Given the description of an element on the screen output the (x, y) to click on. 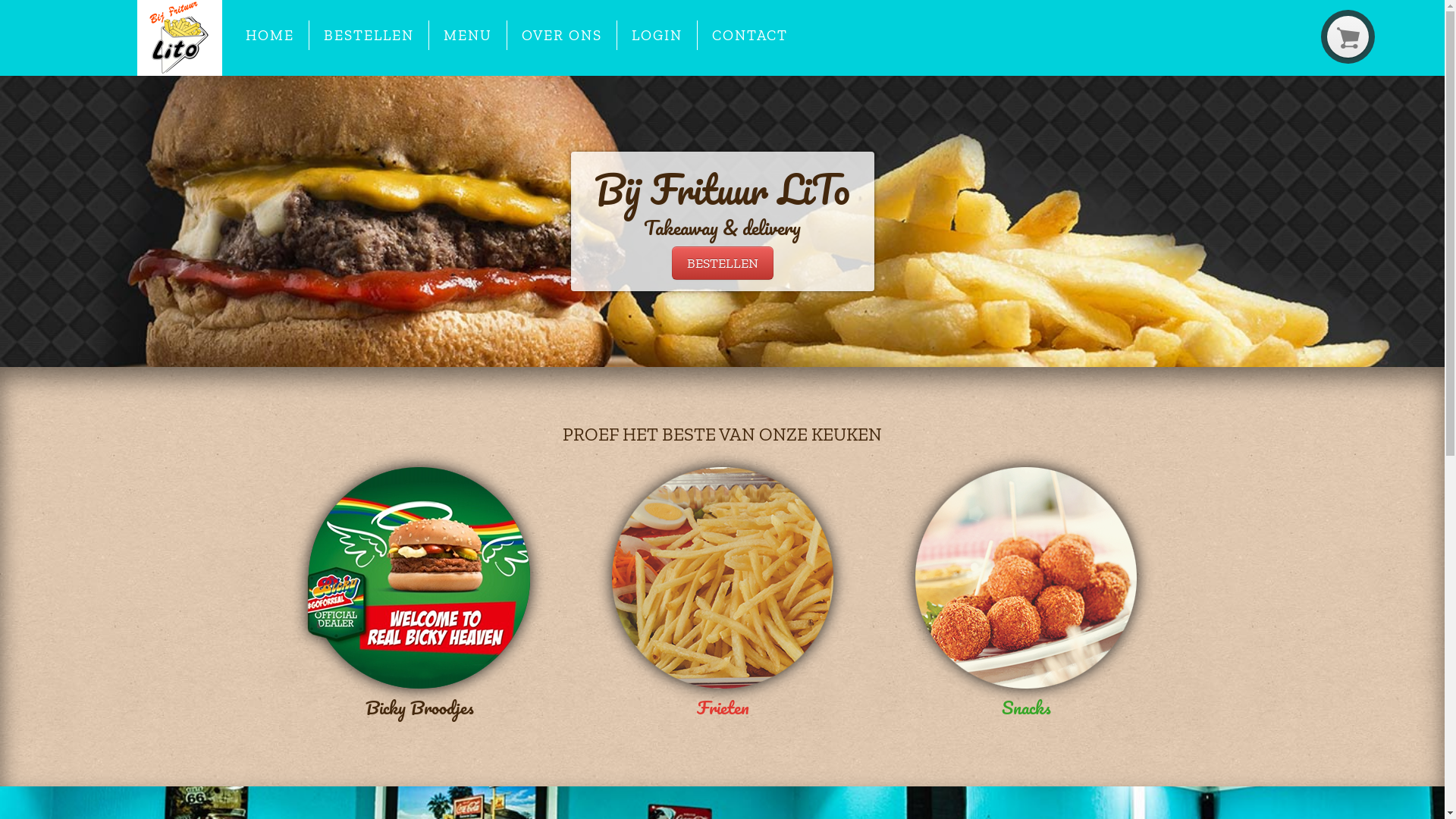
BESTELLEN Element type: text (368, 35)
LOGIN Element type: text (656, 35)
MENU Element type: text (467, 35)
Bicky Broodjes Element type: text (418, 595)
CONTACT Element type: text (750, 35)
OVER ONS Element type: text (561, 35)
BESTELLEN Element type: text (722, 262)
Frieten Element type: text (721, 595)
HOME Element type: text (269, 35)
Snacks Element type: text (1024, 595)
